Given the description of an element on the screen output the (x, y) to click on. 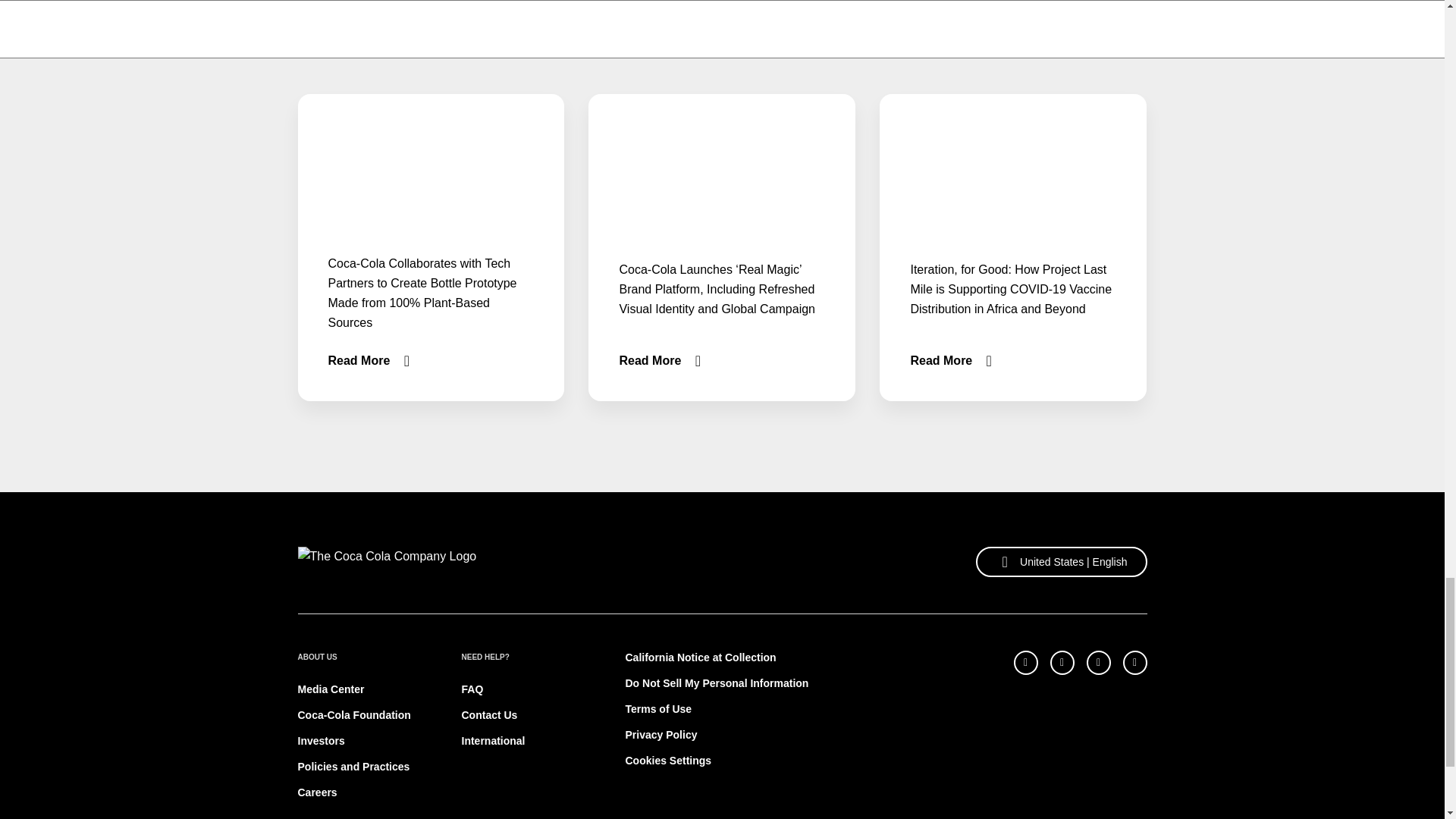
the-coca-cola-company-logo-white.svg (386, 562)
